Given the description of an element on the screen output the (x, y) to click on. 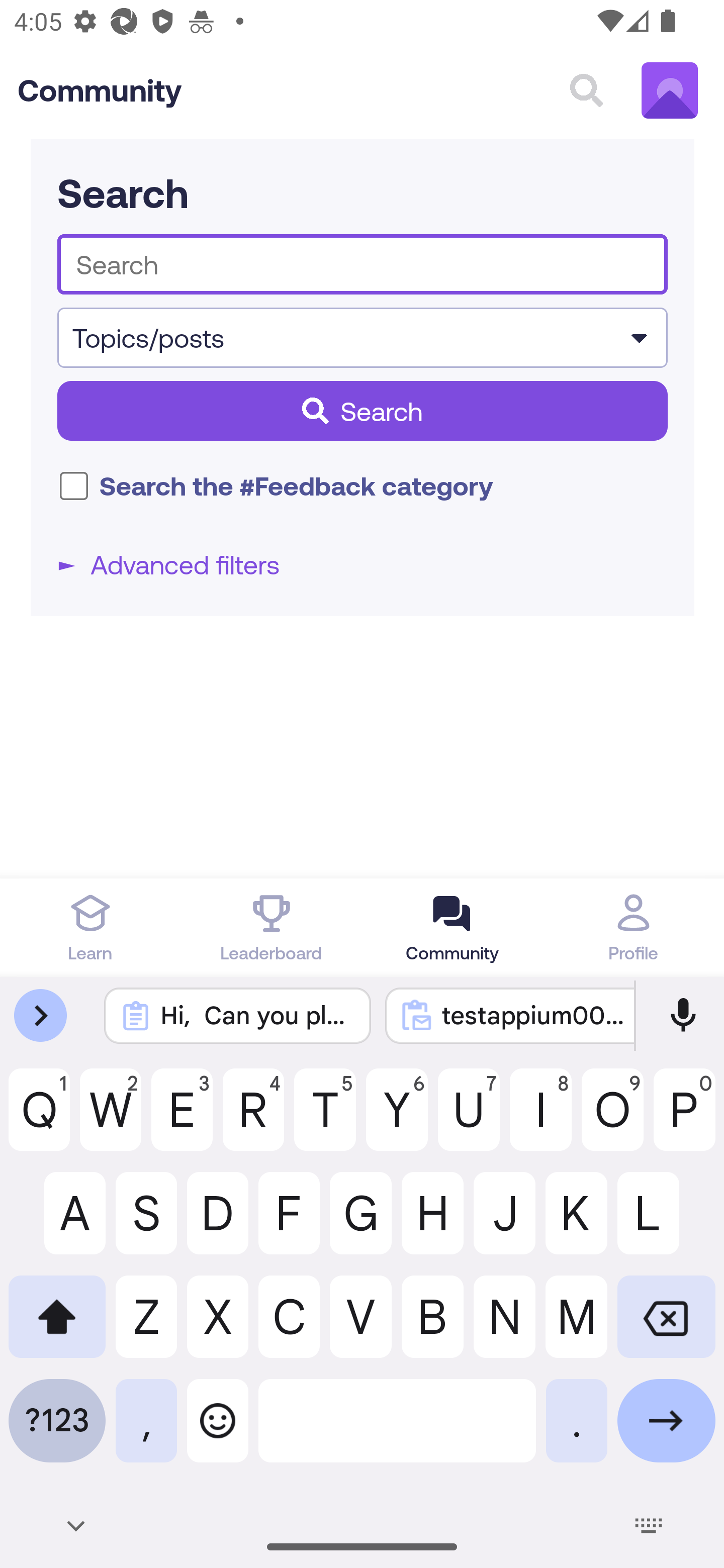
Search (586, 90)
Test Appium's account (669, 90)
Community (100, 90)
Filter by: Topics/posts (362, 337)
Filter by: Topics/posts (362, 337)
Search (362, 409)
Search the #Feedback category (74, 486)
► Advanced filters (362, 564)
Learn (90, 927)
Leaderboard (271, 927)
Profile (633, 927)
